Given the description of an element on the screen output the (x, y) to click on. 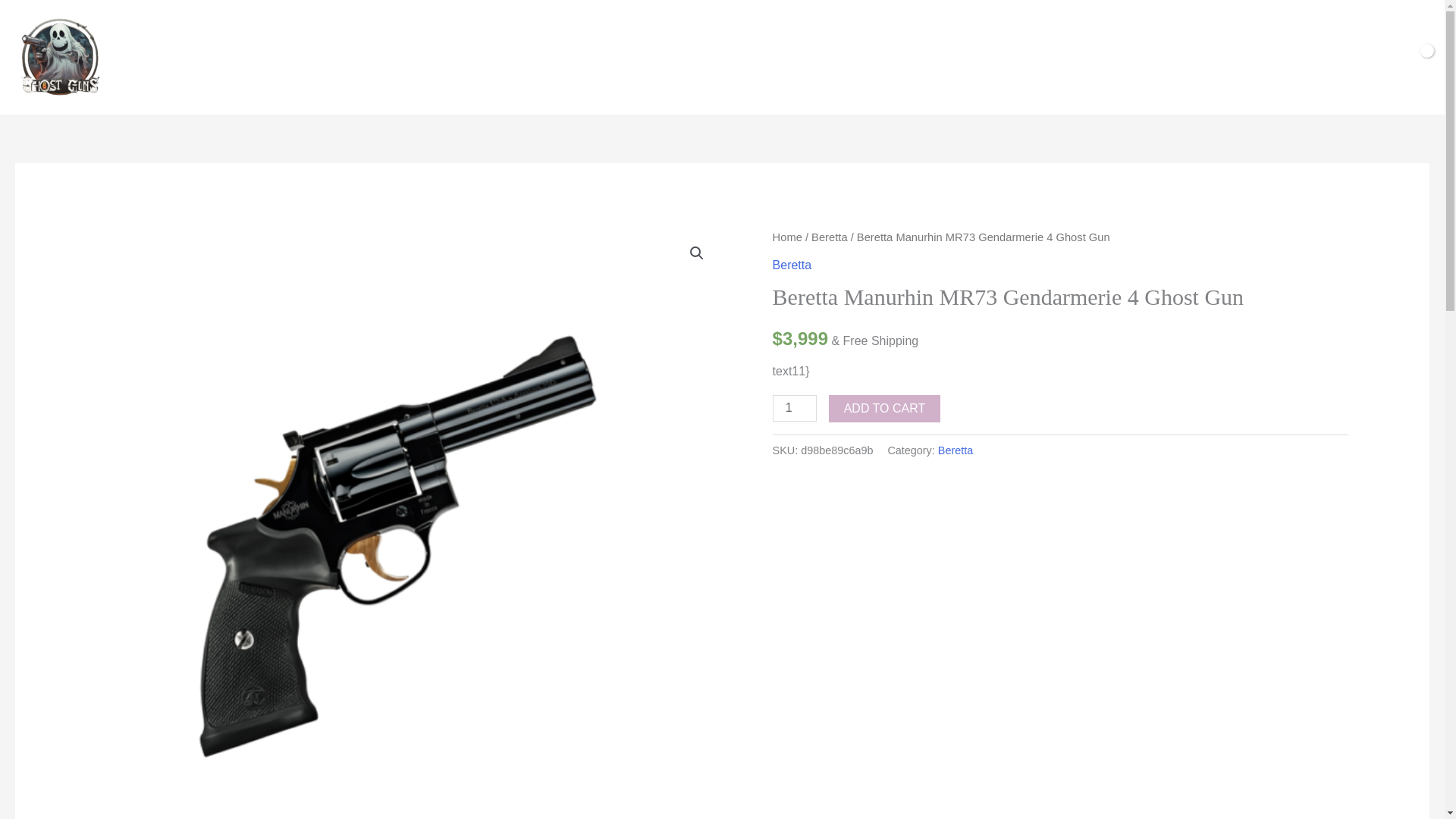
ADD TO CART (884, 408)
COLT (707, 56)
Beretta (828, 236)
BERETTA (639, 56)
GLOCK (566, 56)
WALTHER (775, 56)
Home (787, 236)
SIGSAUER (861, 56)
HOME (503, 56)
1 (794, 407)
DIY KIT (937, 56)
Beretta (792, 264)
Beretta (954, 450)
